Given the description of an element on the screen output the (x, y) to click on. 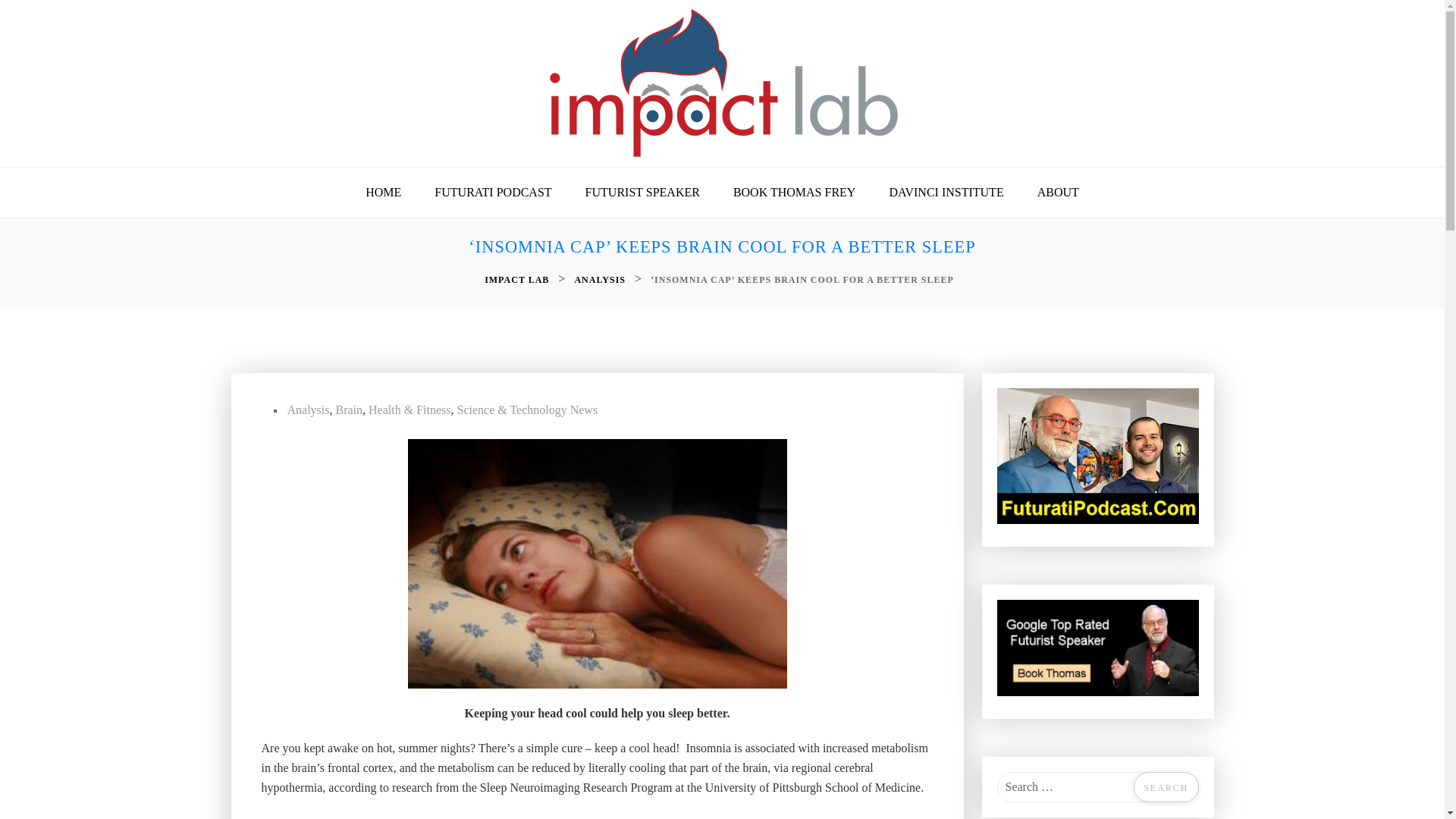
Search (1166, 787)
DAVINCI INSTITUTE (945, 192)
Search (1166, 787)
Search (1166, 787)
ANALYSIS (600, 279)
Insomnia (597, 563)
BOOK THOMAS FREY (793, 192)
Analysis (307, 410)
Brain (348, 410)
Go to the Analysis Category archives. (600, 279)
